Given the description of an element on the screen output the (x, y) to click on. 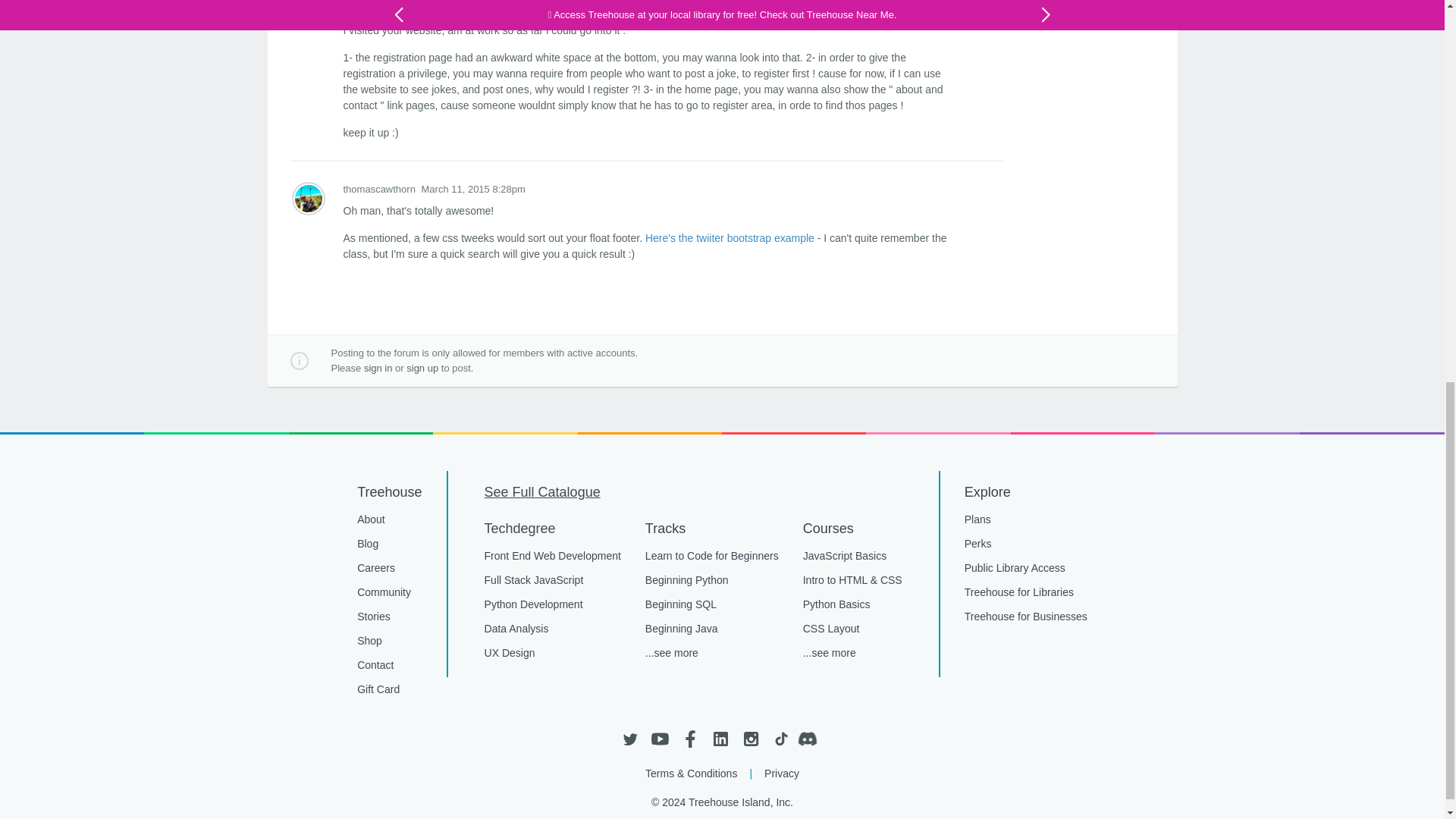
Twitter (628, 738)
Facebook (690, 738)
Discord (810, 738)
Facebook (690, 738)
LinkedIn (719, 738)
Twitter (628, 738)
TikTok (780, 738)
LinkedIn (719, 738)
YouTube (659, 738)
Instagram (749, 738)
